Given the description of an element on the screen output the (x, y) to click on. 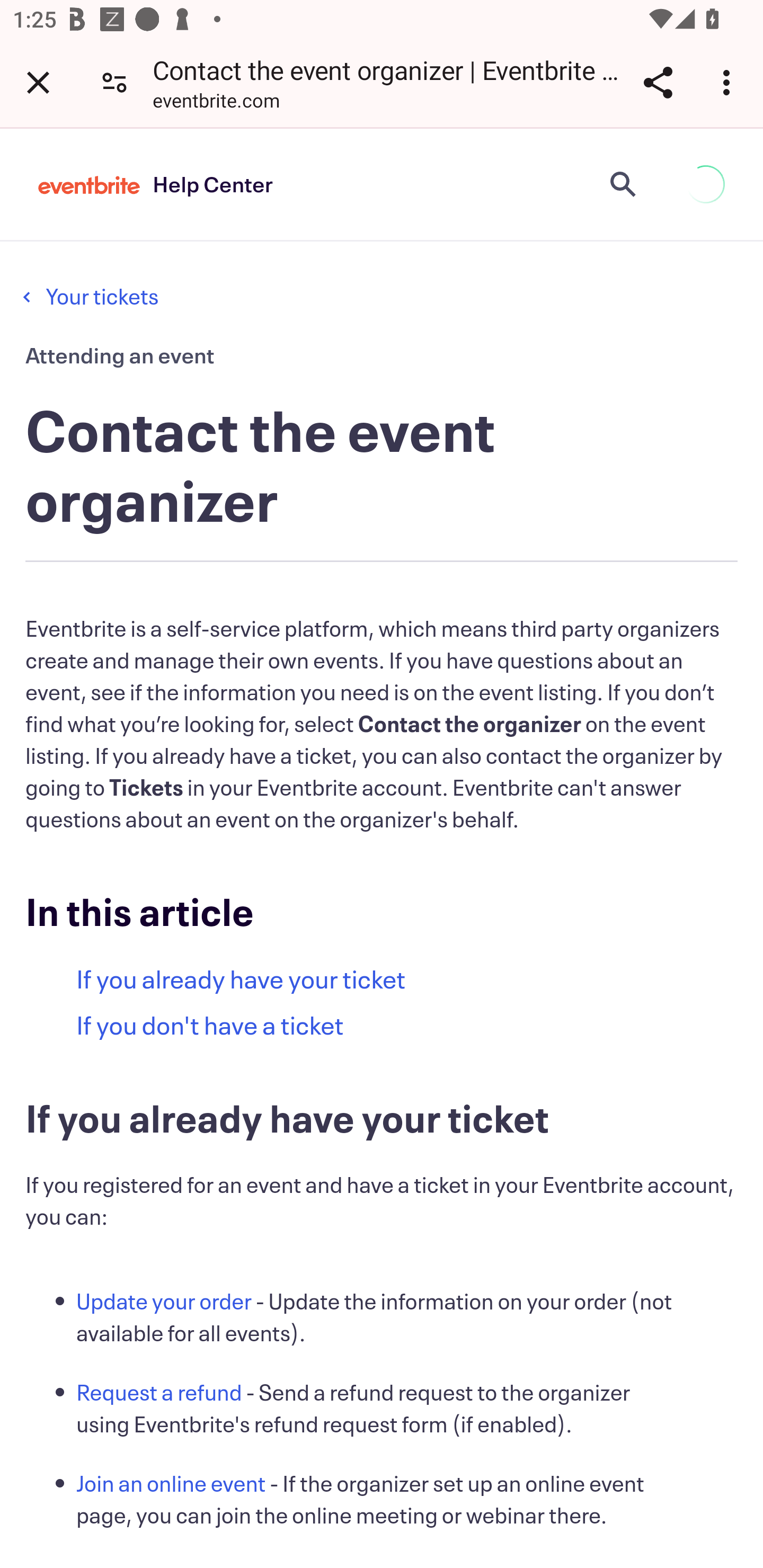
Close tab (38, 82)
Share (657, 82)
Customize and control Google Chrome (729, 82)
Connection is secure (114, 81)
eventbrite.com (216, 103)
Eventbrite Help Center Eventbrite logo Help Center (155, 184)
Your tickets (101, 296)
Update your order (164, 1301)
Request a refund (159, 1393)
Join an online event (171, 1483)
